Given the description of an element on the screen output the (x, y) to click on. 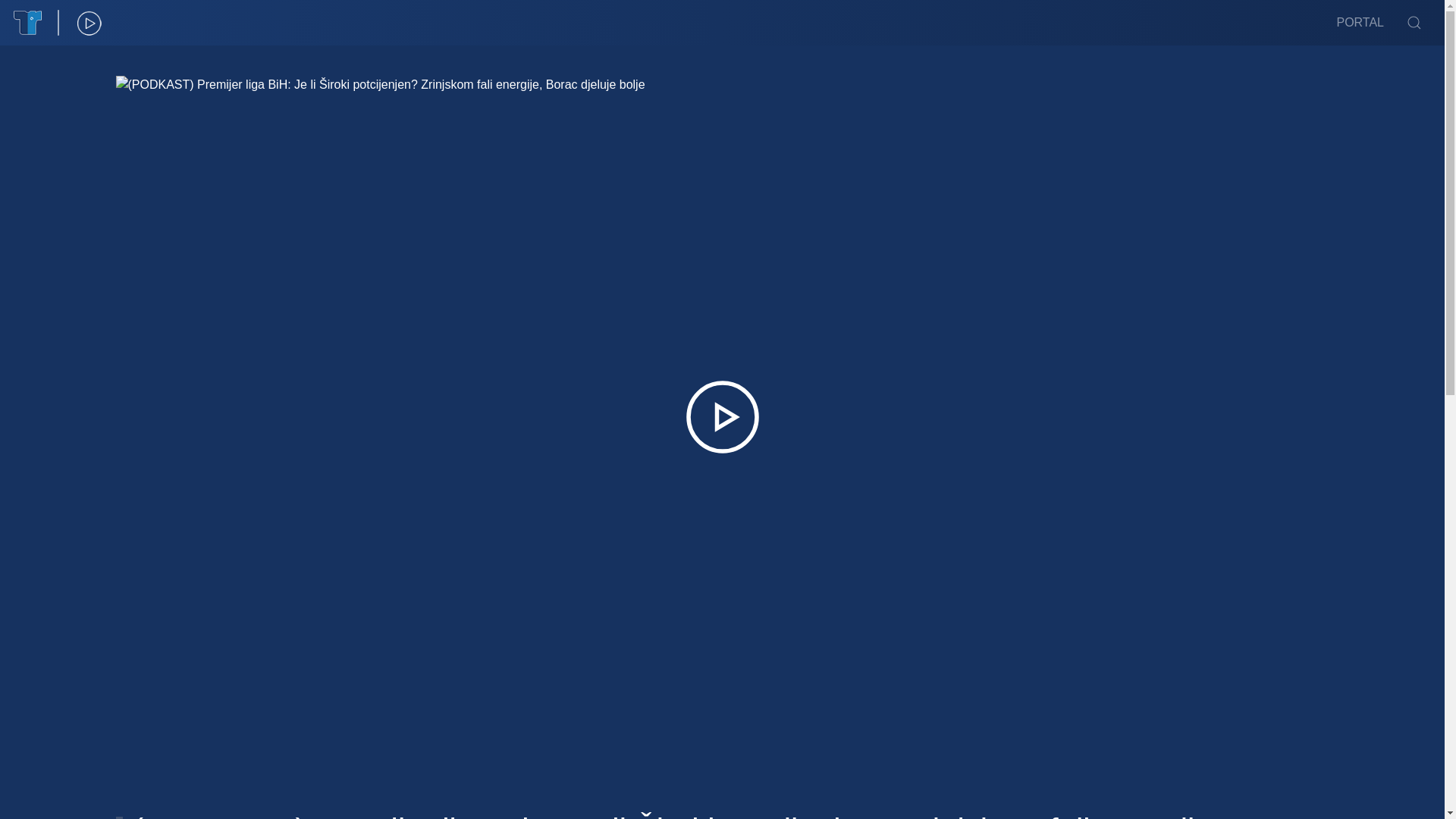
PORTAL Element type: text (1359, 22)
